Given the description of an element on the screen output the (x, y) to click on. 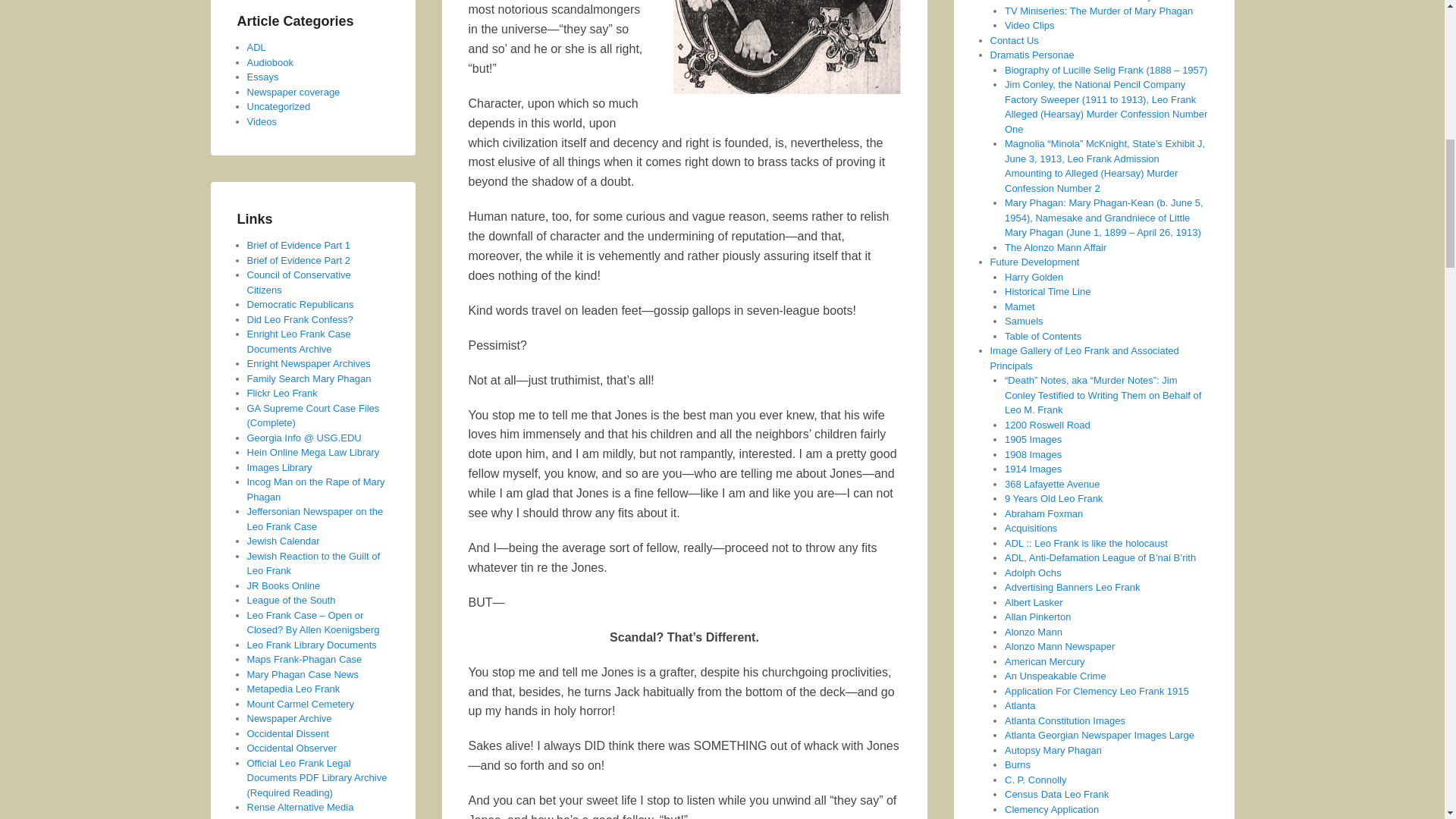
Mount Carmel Cemetery New York (301, 704)
